Given the description of an element on the screen output the (x, y) to click on. 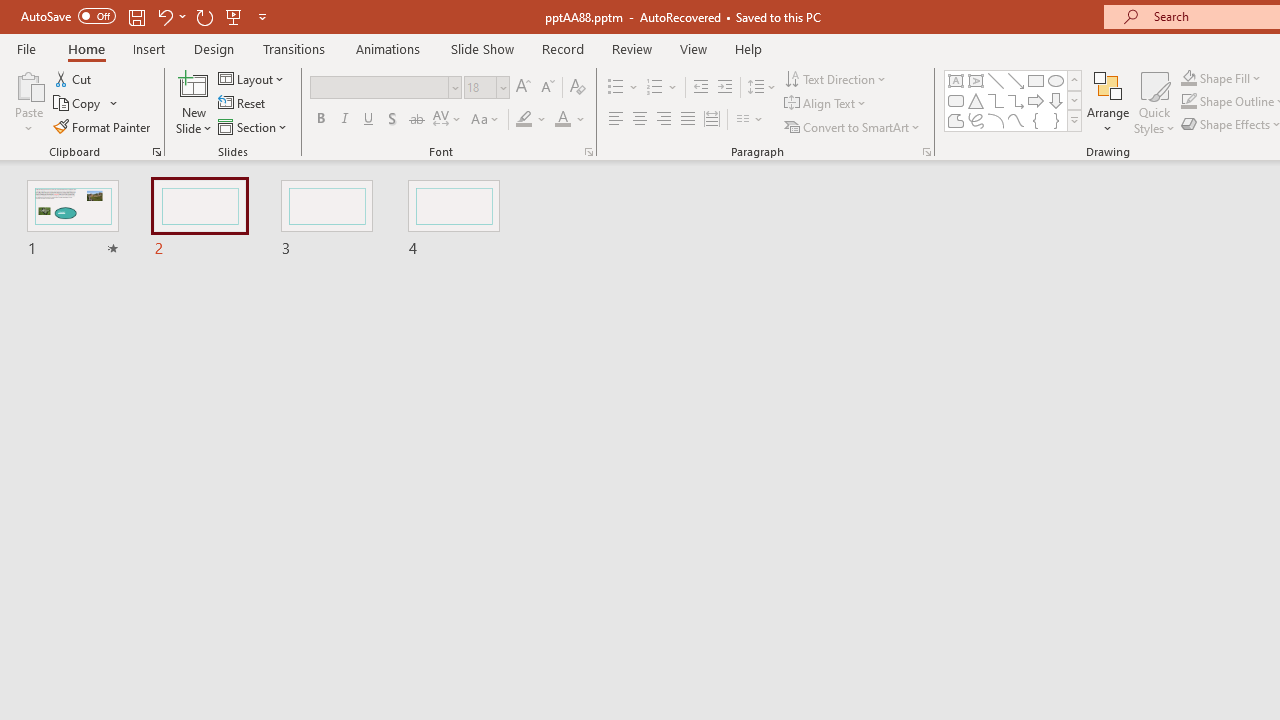
Shape Outline Teal, Accent 1 (1188, 101)
Underline (369, 119)
Arrow: Right (1035, 100)
Line Spacing (762, 87)
Quick Styles (1154, 102)
Freeform: Scribble (975, 120)
Clear Formatting (577, 87)
Paragraph... (926, 151)
